Given the description of an element on the screen output the (x, y) to click on. 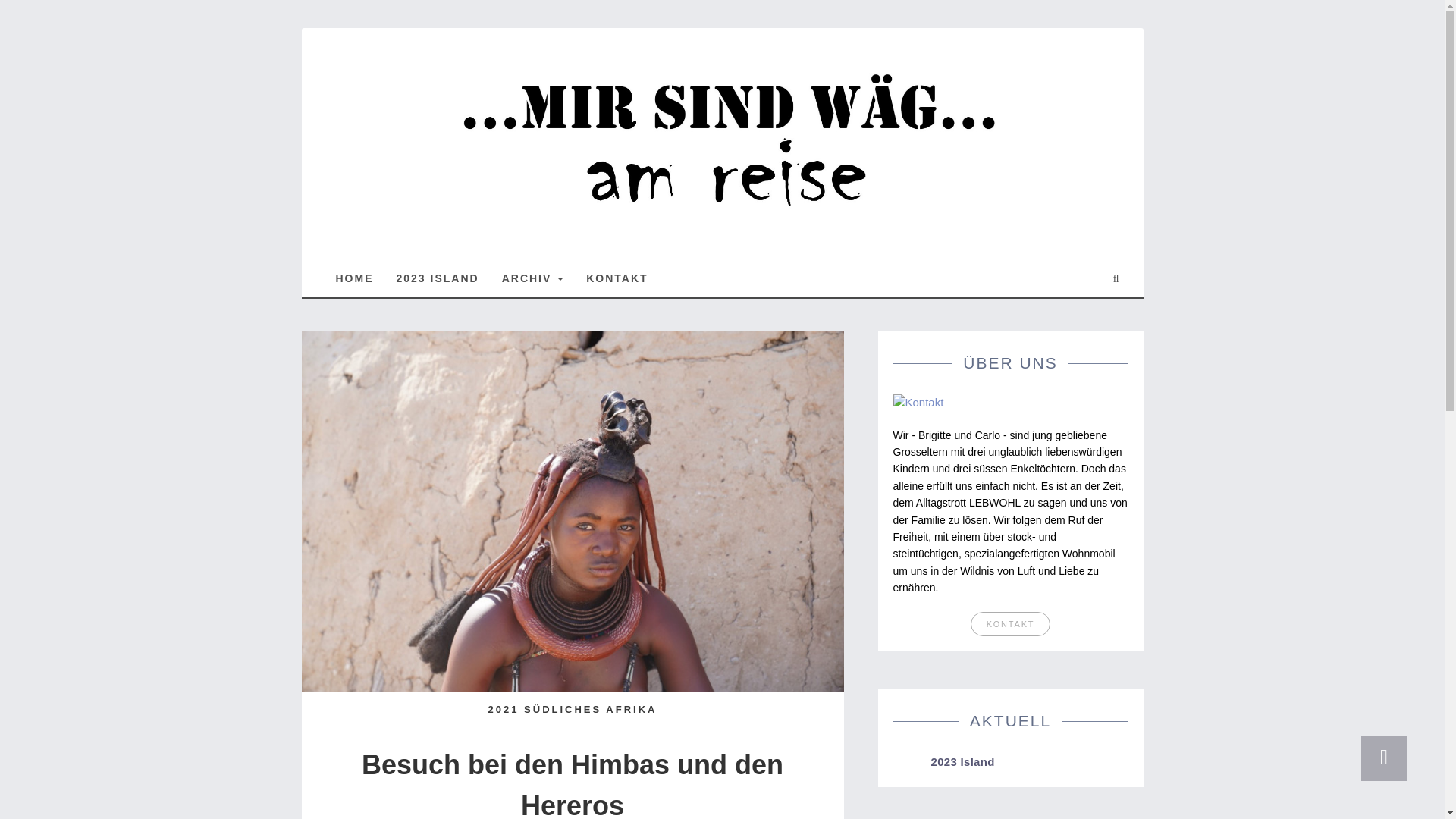
ARCHIV Element type: text (532, 275)
Himba-Frau Element type: hover (572, 511)
2023 ISLAND Element type: text (437, 275)
KONTAKT Element type: text (616, 275)
HOME Element type: text (354, 275)
2023 Island Element type: text (962, 761)
KONTAKT Element type: text (1010, 623)
